Given the description of an element on the screen output the (x, y) to click on. 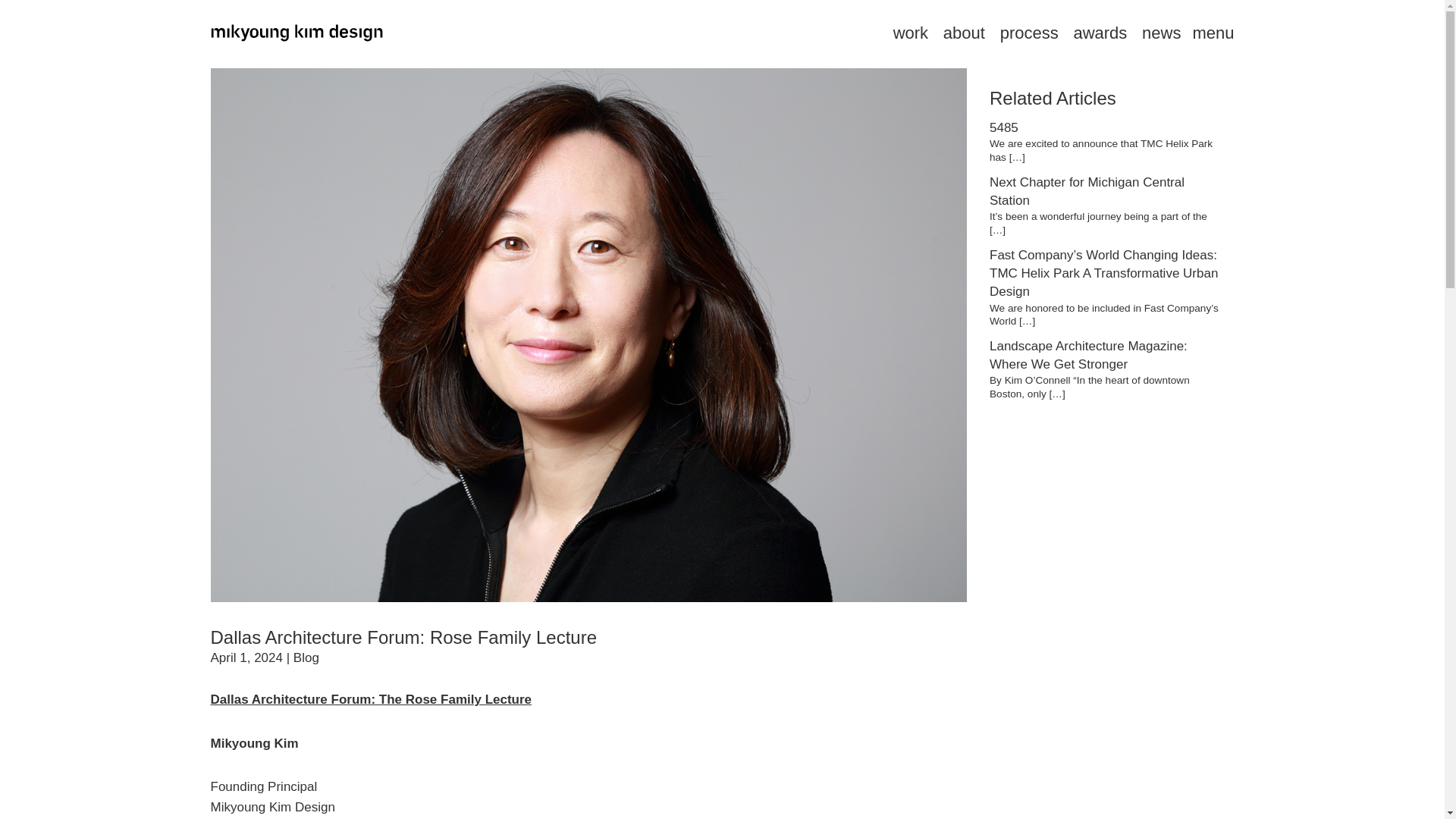
about (964, 32)
news (1160, 32)
work (910, 32)
process (1029, 32)
awards (1099, 32)
menu (1212, 33)
